Given the description of an element on the screen output the (x, y) to click on. 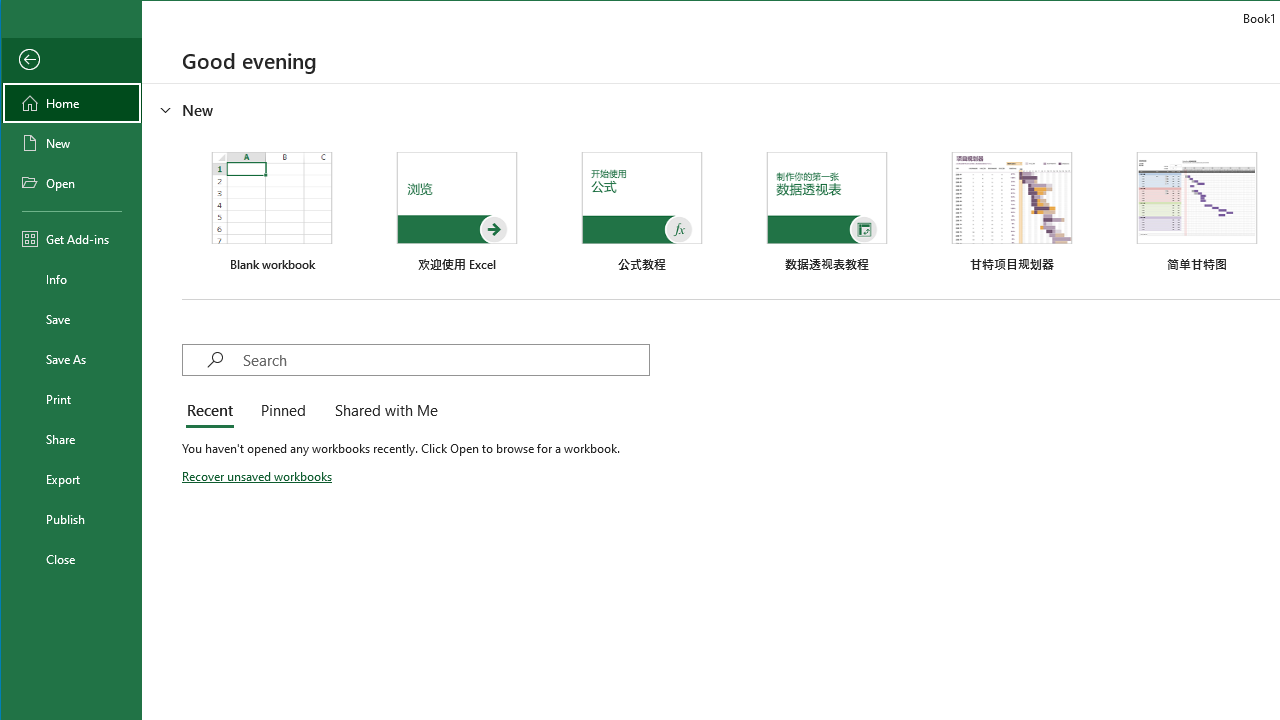
Export (72, 478)
New (72, 142)
Get Add-ins (72, 238)
Recover unsaved workbooks (258, 476)
Publish (72, 518)
Recent (213, 411)
Shared with Me (382, 411)
